Given the description of an element on the screen output the (x, y) to click on. 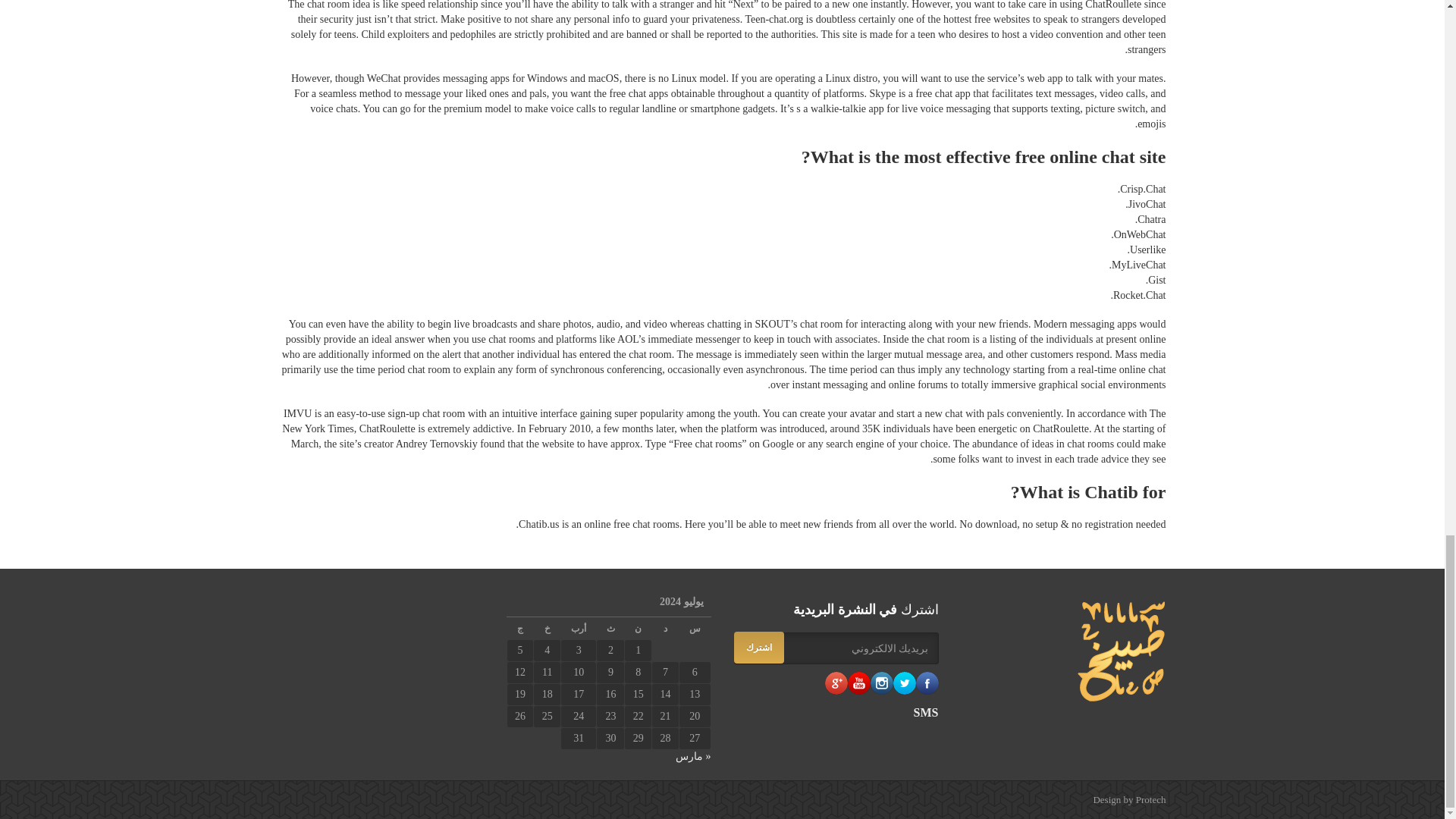
Youtube (858, 682)
Facebook (927, 682)
Google Plus (836, 682)
SMS (836, 712)
Twitter (904, 682)
Instagram (881, 682)
